Given the description of an element on the screen output the (x, y) to click on. 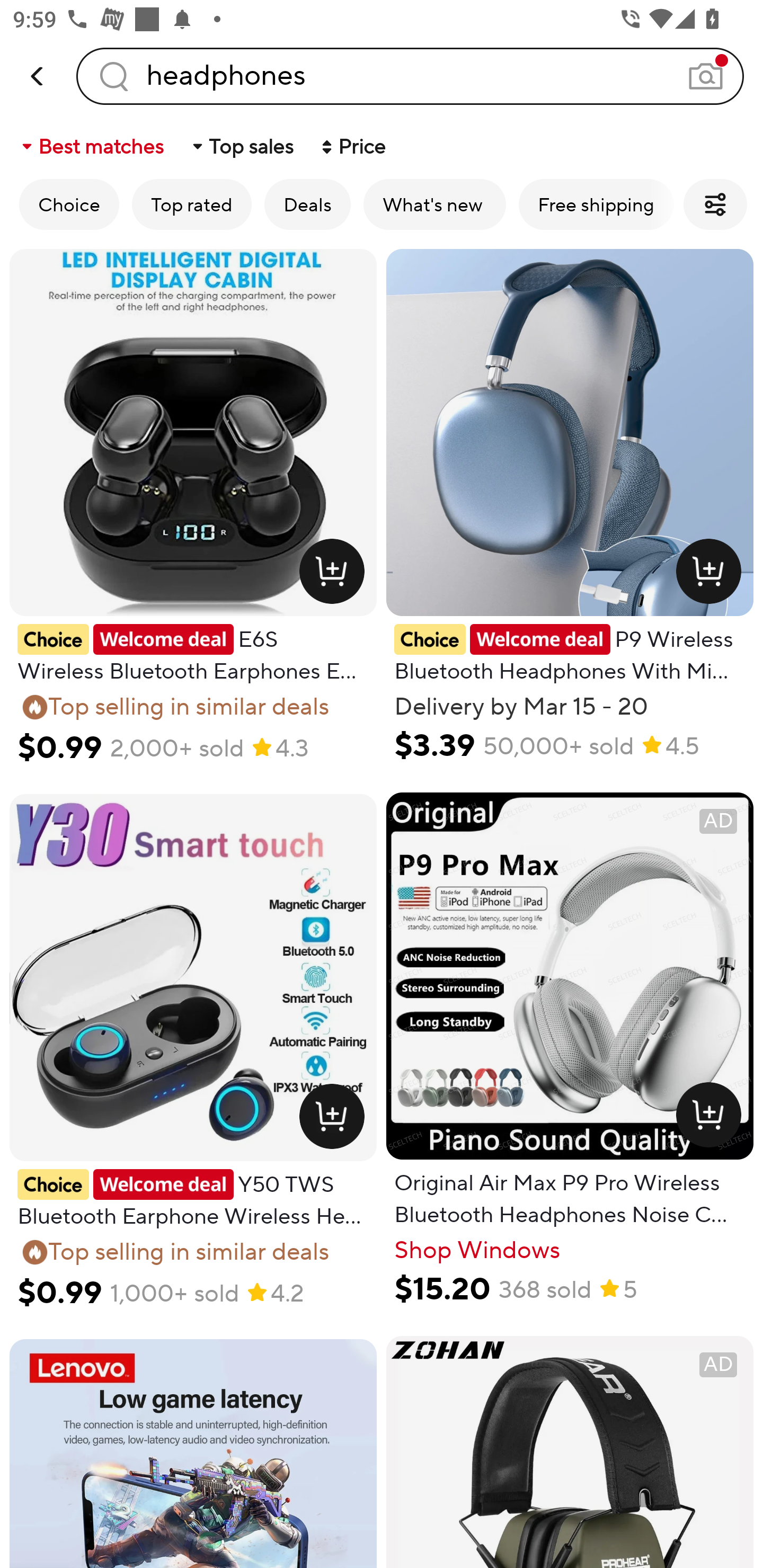
back (38, 75)
headphones Search query (409, 76)
headphones Search query (409, 76)
Best matches (91, 146)
Top sales (241, 146)
Price (352, 146)
Choice (69, 204)
Top rated (191, 204)
Deals (307, 204)
What's new  (434, 204)
Free shipping (595, 204)
